Given the description of an element on the screen output the (x, y) to click on. 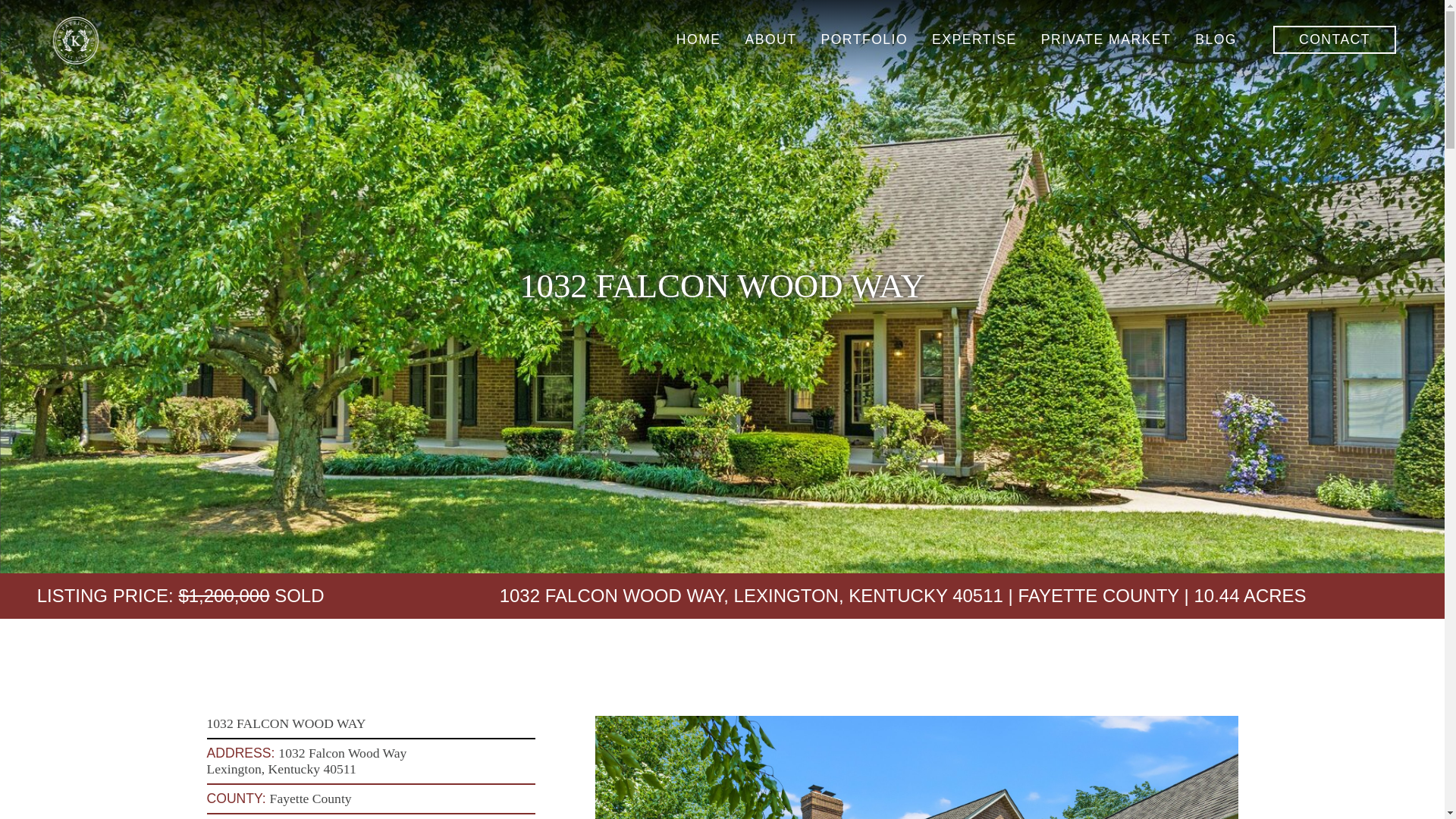
BLOG (1215, 40)
PRIVATE MARKET (1105, 40)
ABOUT (771, 40)
PORTFOLIO (864, 40)
HOME (698, 40)
CONTACT (1334, 39)
EXPERTISE (974, 40)
